Given the description of an element on the screen output the (x, y) to click on. 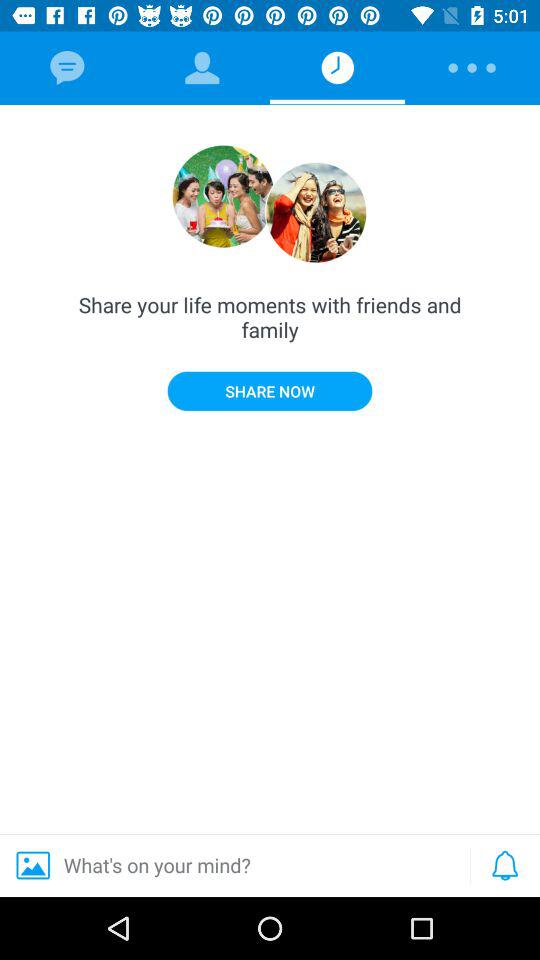
flip to share now icon (269, 390)
